Given the description of an element on the screen output the (x, y) to click on. 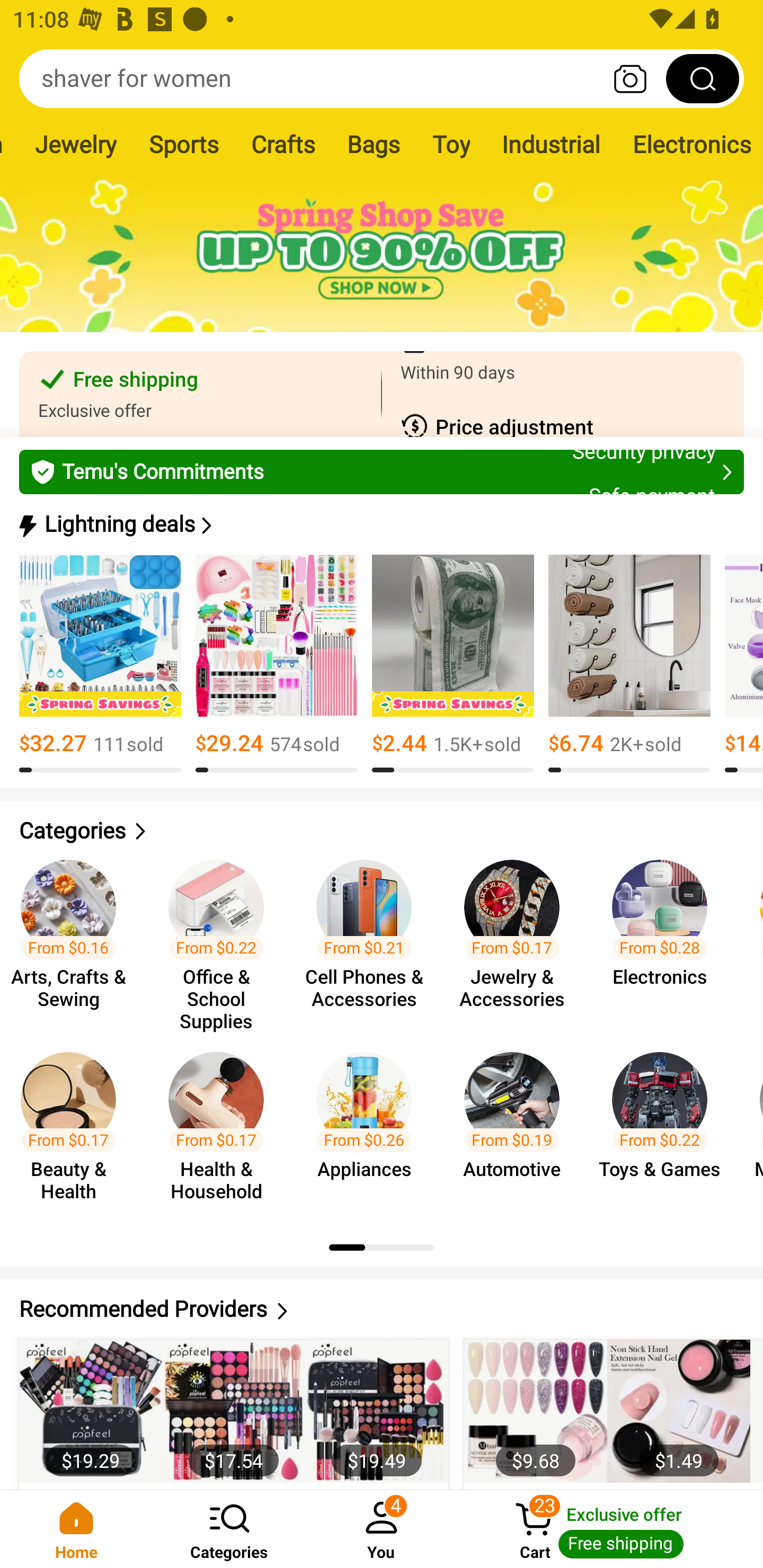
shaver for women (381, 78)
Jewelry (75, 144)
Sports (183, 144)
Crafts (283, 144)
Bags (373, 144)
Toy (450, 144)
Industrial (551, 144)
Electronics (689, 144)
Free shipping Exclusive offer (200, 394)
Free returns Within 90 days (562, 394)
Temu's Commitments (381, 471)
Lightning deals (379, 524)
$32.27 111￼sold 8.0 (100, 664)
$29.24 574￼sold 8.0 (276, 664)
$2.44 1.5K+￼sold 14.0 (453, 664)
$6.74 2K+￼sold 8.0 (629, 664)
Categories (381, 830)
From $0.16 Arts, Crafts & Sewing (74, 936)
From $0.22 Office & School Supplies (222, 936)
From $0.21 Cell Phones & Accessories (369, 936)
From $0.17 Jewelry & Accessories (517, 936)
From $0.28 Electronics (665, 936)
From $0.17 Beauty & Health (74, 1128)
From $0.17 Health & Household (222, 1128)
From $0.26 Appliances (369, 1128)
From $0.19 Automotive (517, 1128)
From $0.22 Toys & Games (665, 1128)
Recommended Providers (381, 1309)
Home (76, 1528)
Categories (228, 1528)
You 4 You (381, 1528)
Cart 23 Cart Exclusive offer (610, 1528)
